Given the description of an element on the screen output the (x, y) to click on. 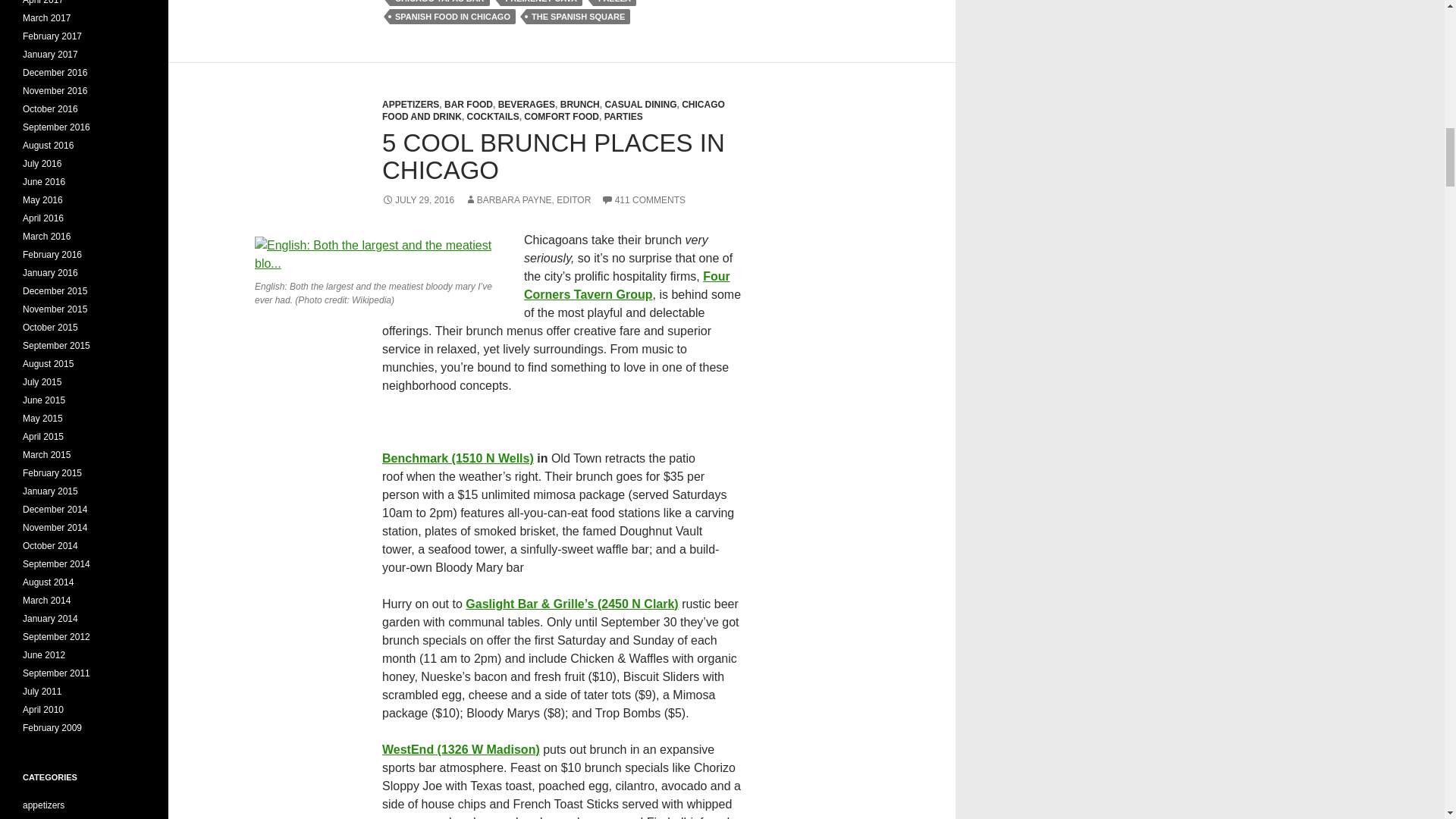
English: Both the largest and the meatiest blo... (379, 254)
FREIXENET CAVA (541, 2)
SPANISH FOOD IN CHICAGO (452, 16)
PAELLA (614, 2)
COMFORT FOOD (561, 116)
CASUAL DINING (640, 104)
PARTIES (623, 116)
APPETIZERS (410, 104)
THE SPANISH SQUARE (577, 16)
BEVERAGES (525, 104)
